Given the description of an element on the screen output the (x, y) to click on. 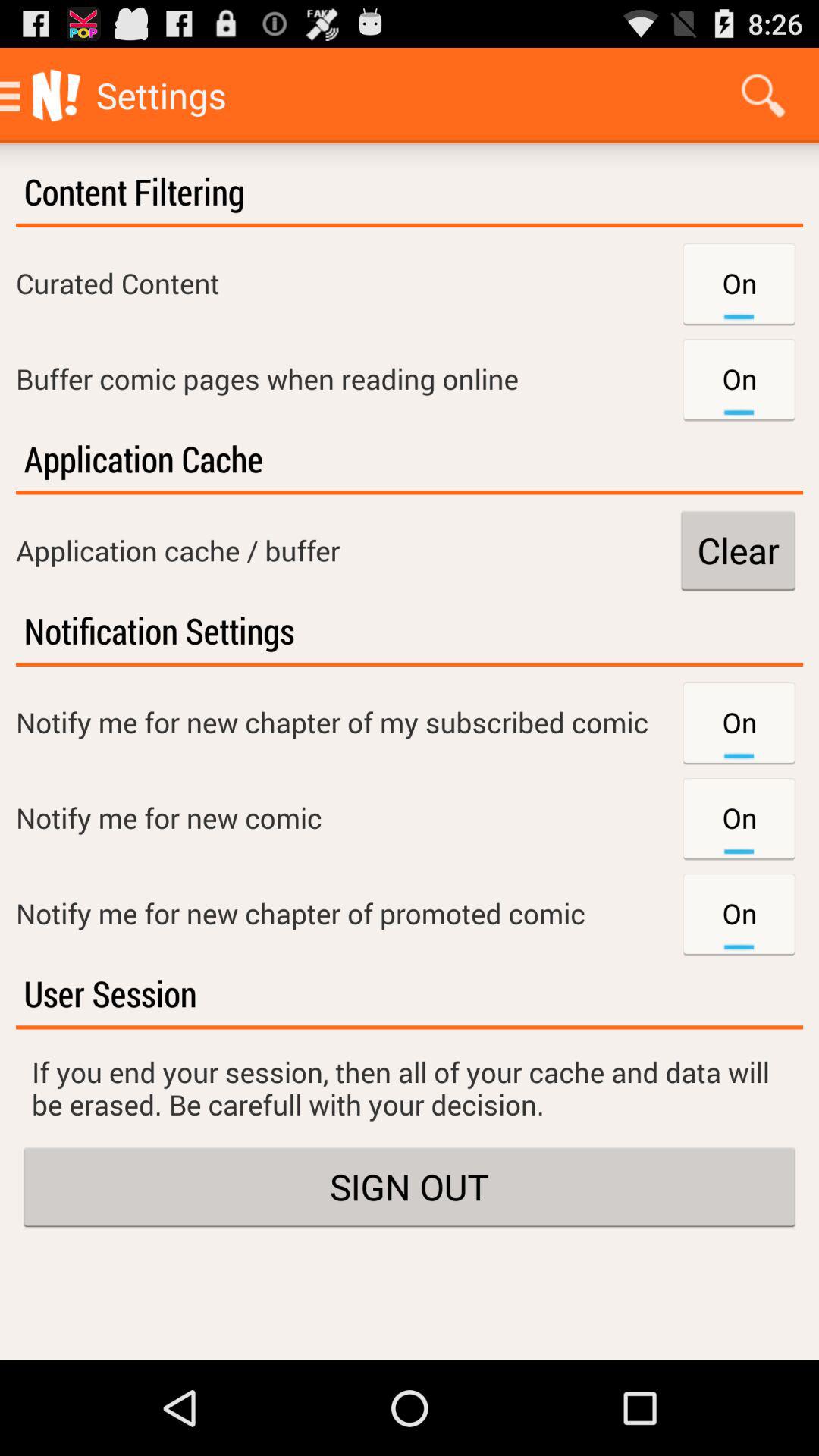
choose the icon above the notification settings icon (738, 550)
